Given the description of an element on the screen output the (x, y) to click on. 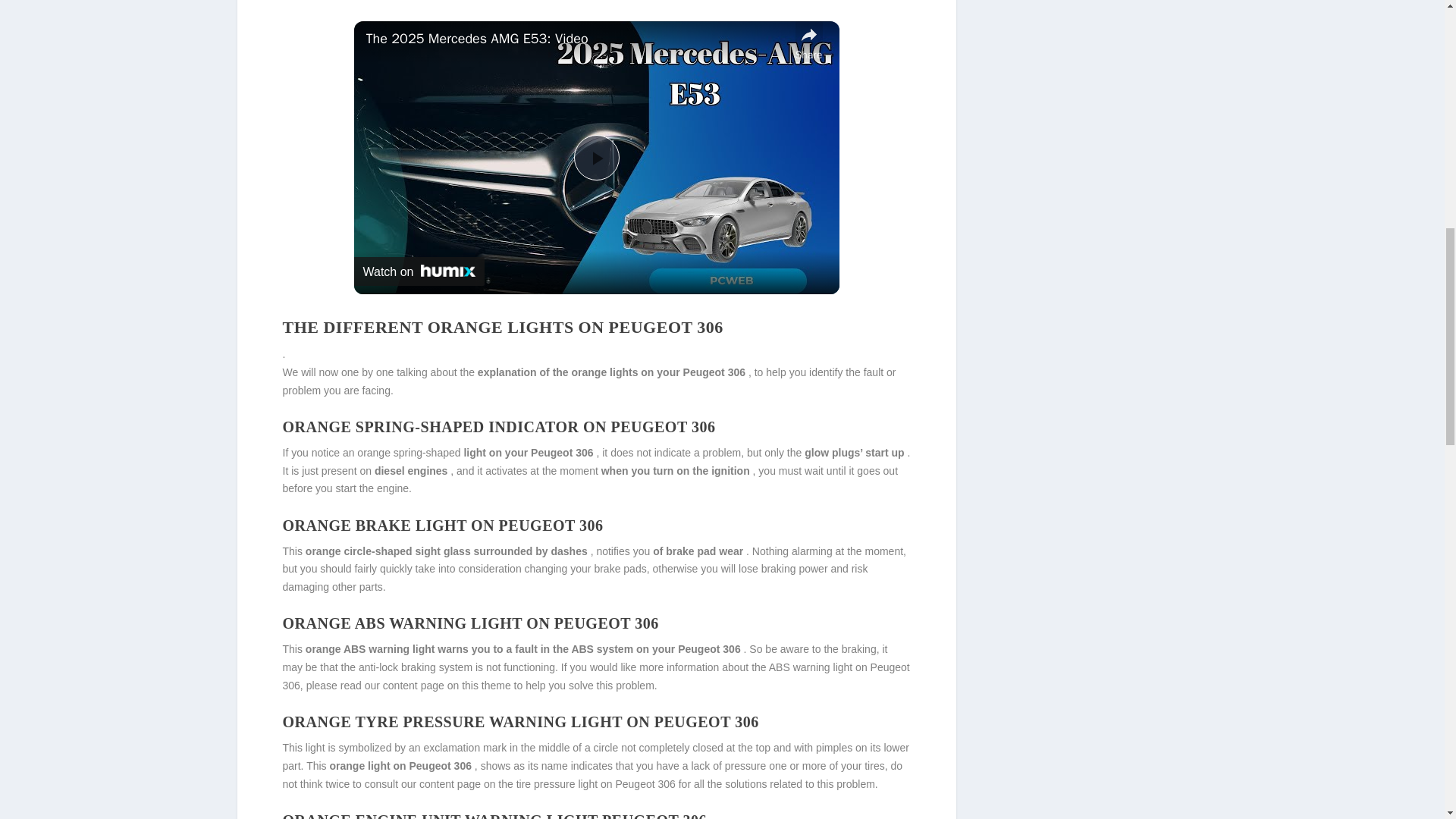
PLAY VIDEO (595, 157)
Play Video (595, 157)
The 2025 Mercedes AMG E53: Video (576, 39)
Watch on (418, 271)
